Given the description of an element on the screen output the (x, y) to click on. 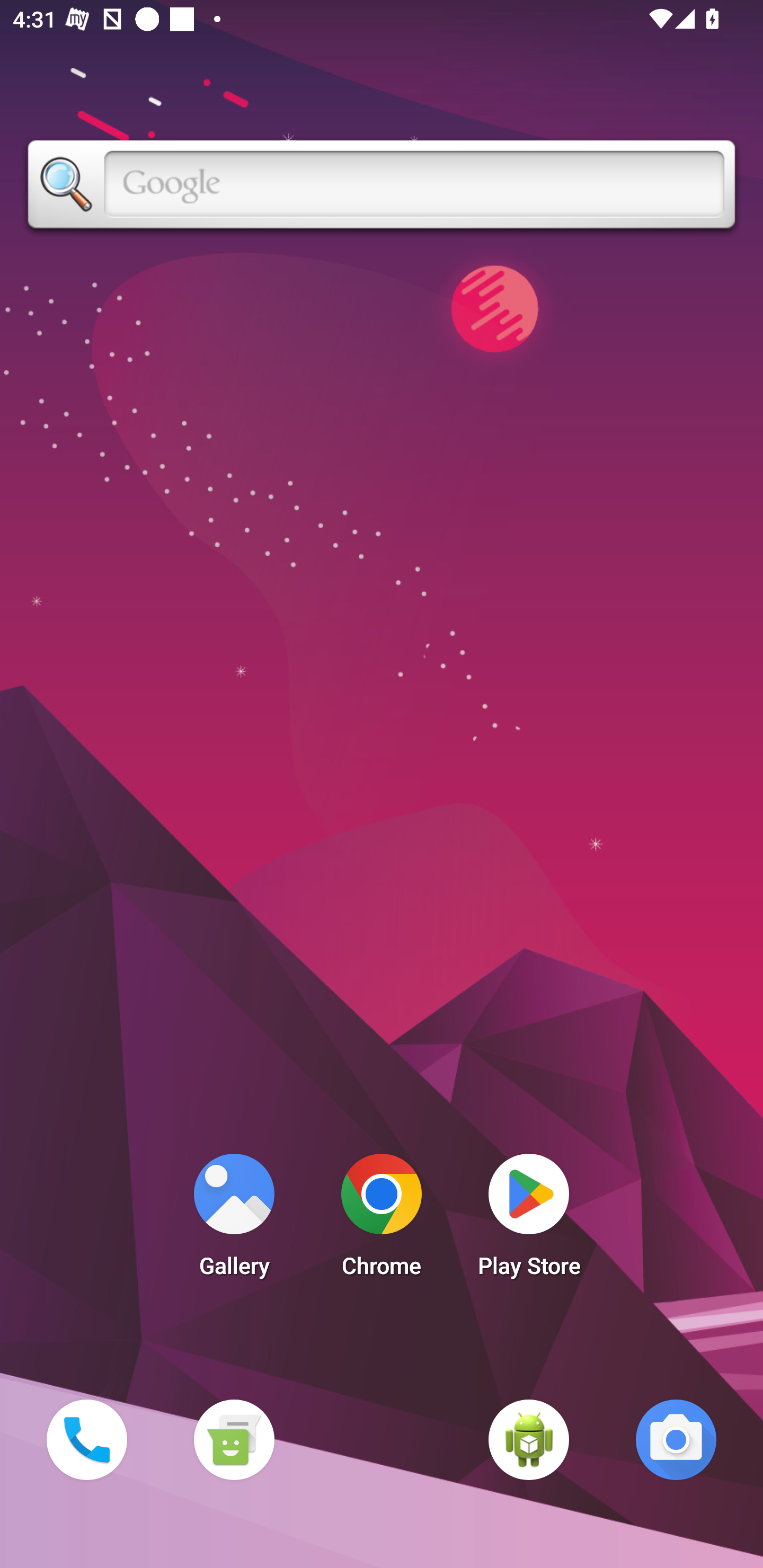
Gallery (233, 1220)
Chrome (381, 1220)
Play Store (528, 1220)
Phone (86, 1439)
Messaging (233, 1439)
WebView Browser Tester (528, 1439)
Camera (676, 1439)
